Given the description of an element on the screen output the (x, y) to click on. 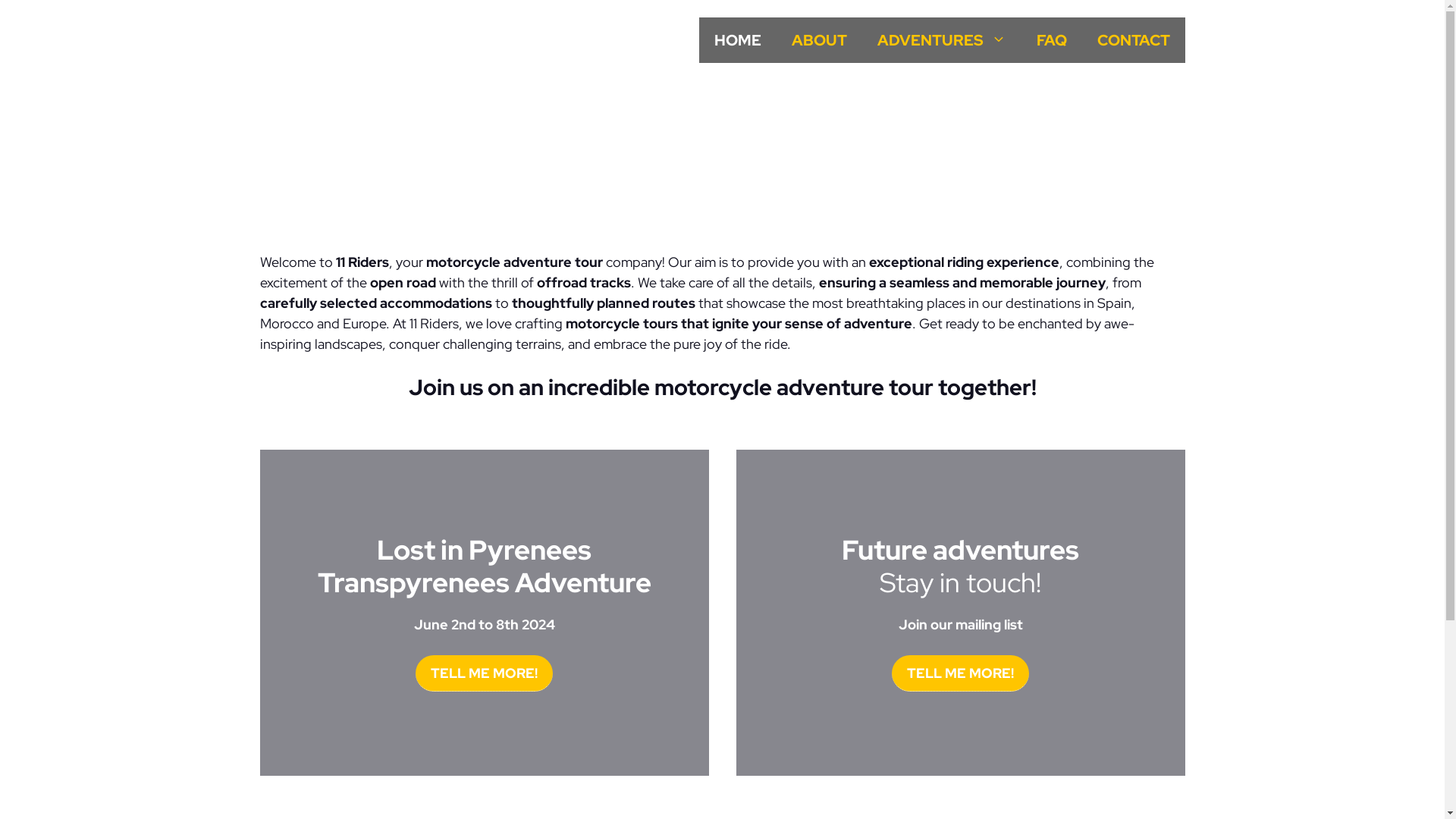
11 RIDERS Element type: text (321, 30)
TELL ME MORE! Element type: text (960, 673)
FAQ Element type: text (1050, 39)
HOME Element type: text (737, 39)
ADVENTURES Element type: text (940, 39)
TELL ME MORE! Element type: text (483, 673)
CONTACT Element type: text (1132, 39)
ABOUT Element type: text (819, 39)
